Given the description of an element on the screen output the (x, y) to click on. 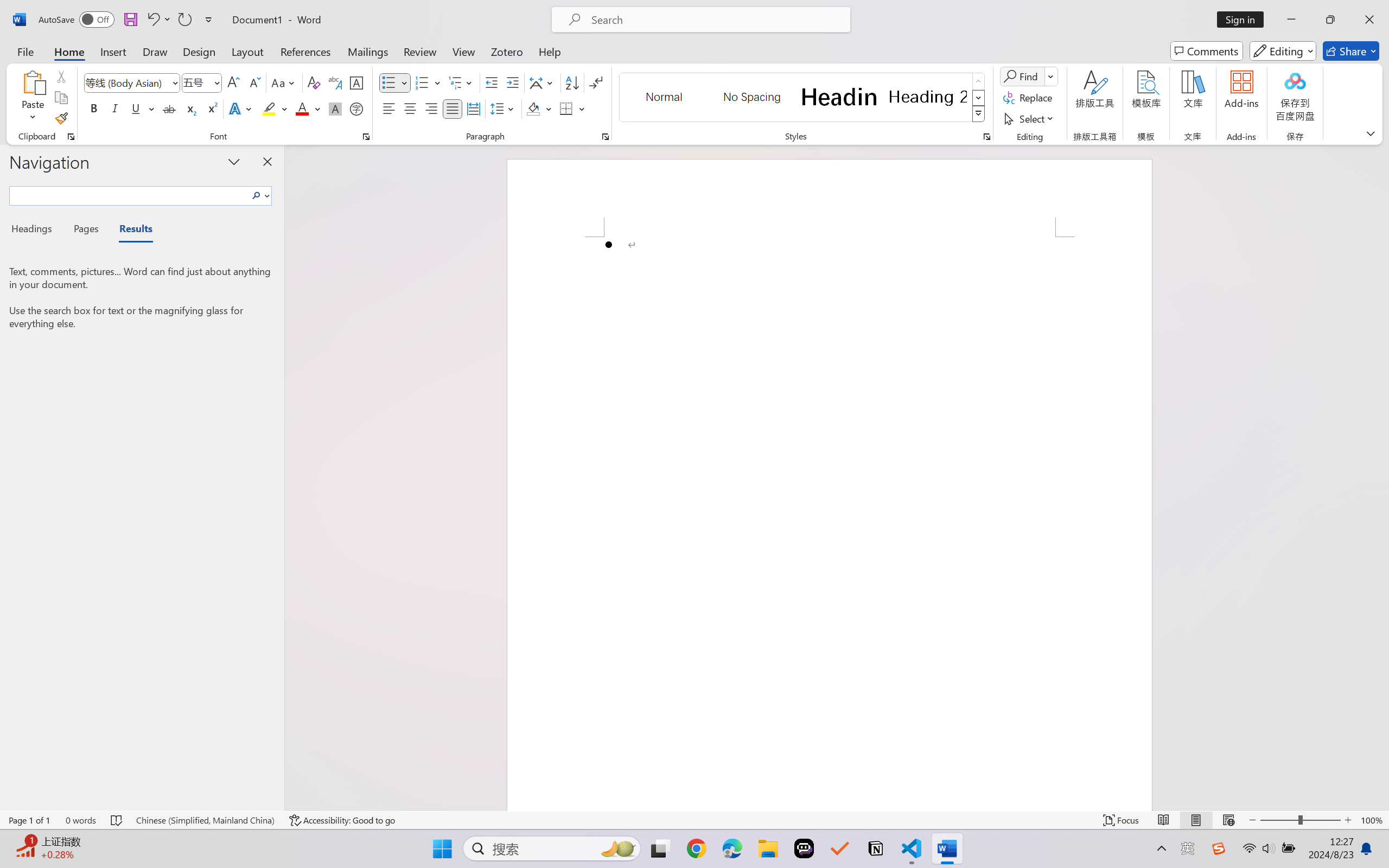
Results (130, 229)
